Given the description of an element on the screen output the (x, y) to click on. 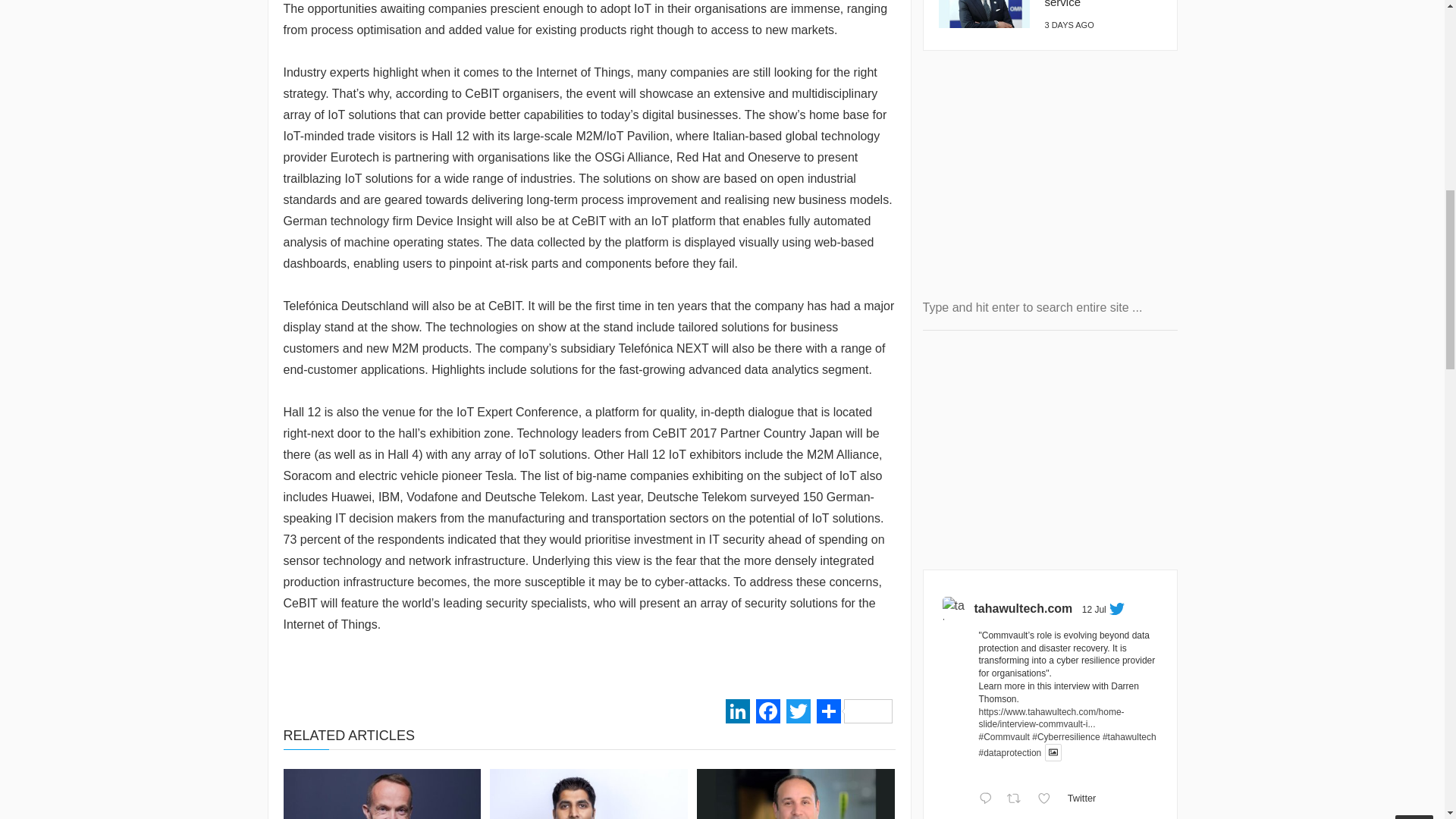
Type and hit enter to search entire site ... (1048, 307)
Type and hit enter to search entire site ... (1048, 307)
